Given the description of an element on the screen output the (x, y) to click on. 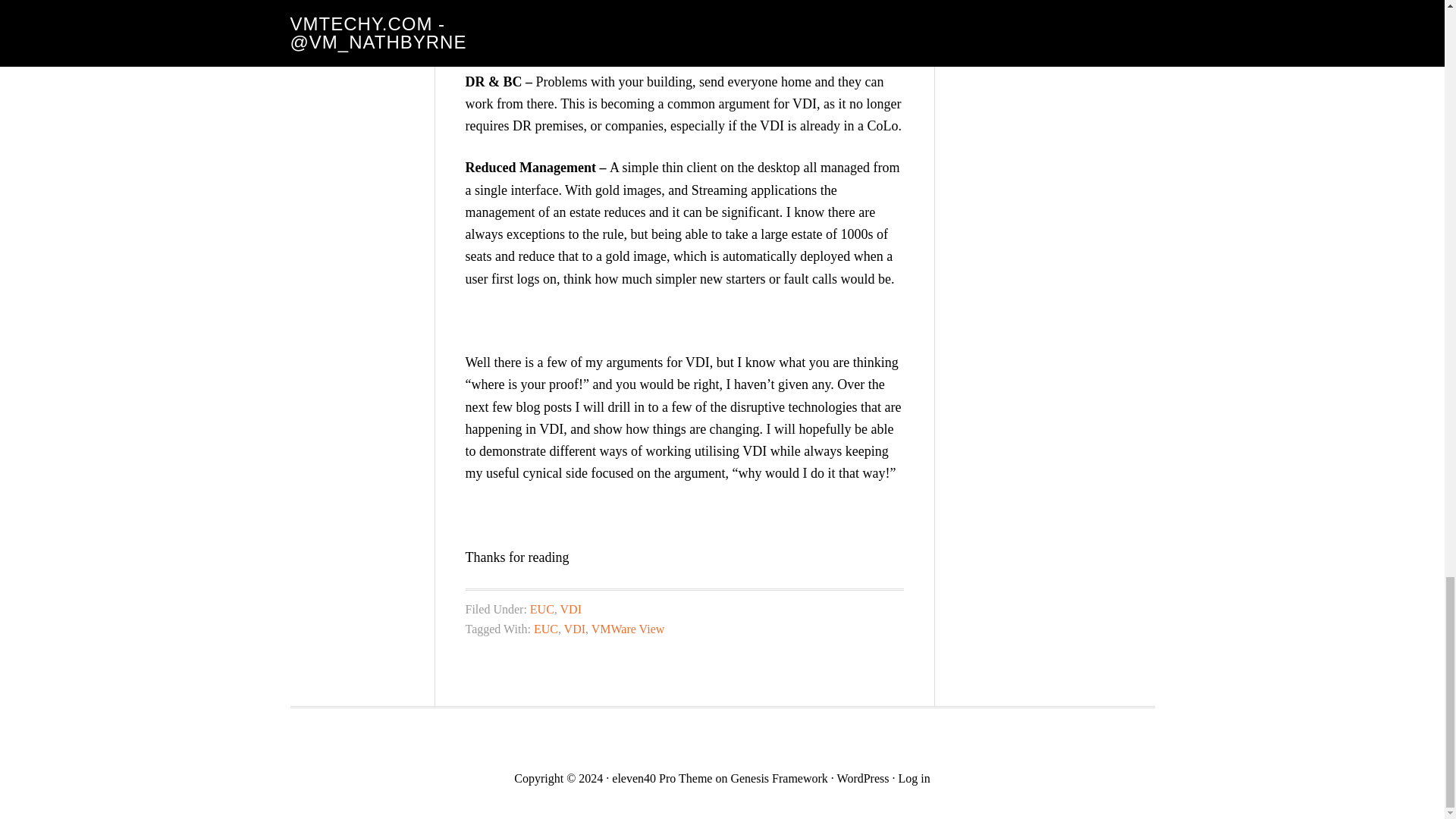
EUC (541, 608)
eleven40 Pro Theme (661, 778)
EUC (545, 628)
VMWare View (628, 628)
VDI (570, 608)
Genesis Framework (778, 778)
VDI (574, 628)
Log in (914, 778)
WordPress (863, 778)
